Given the description of an element on the screen output the (x, y) to click on. 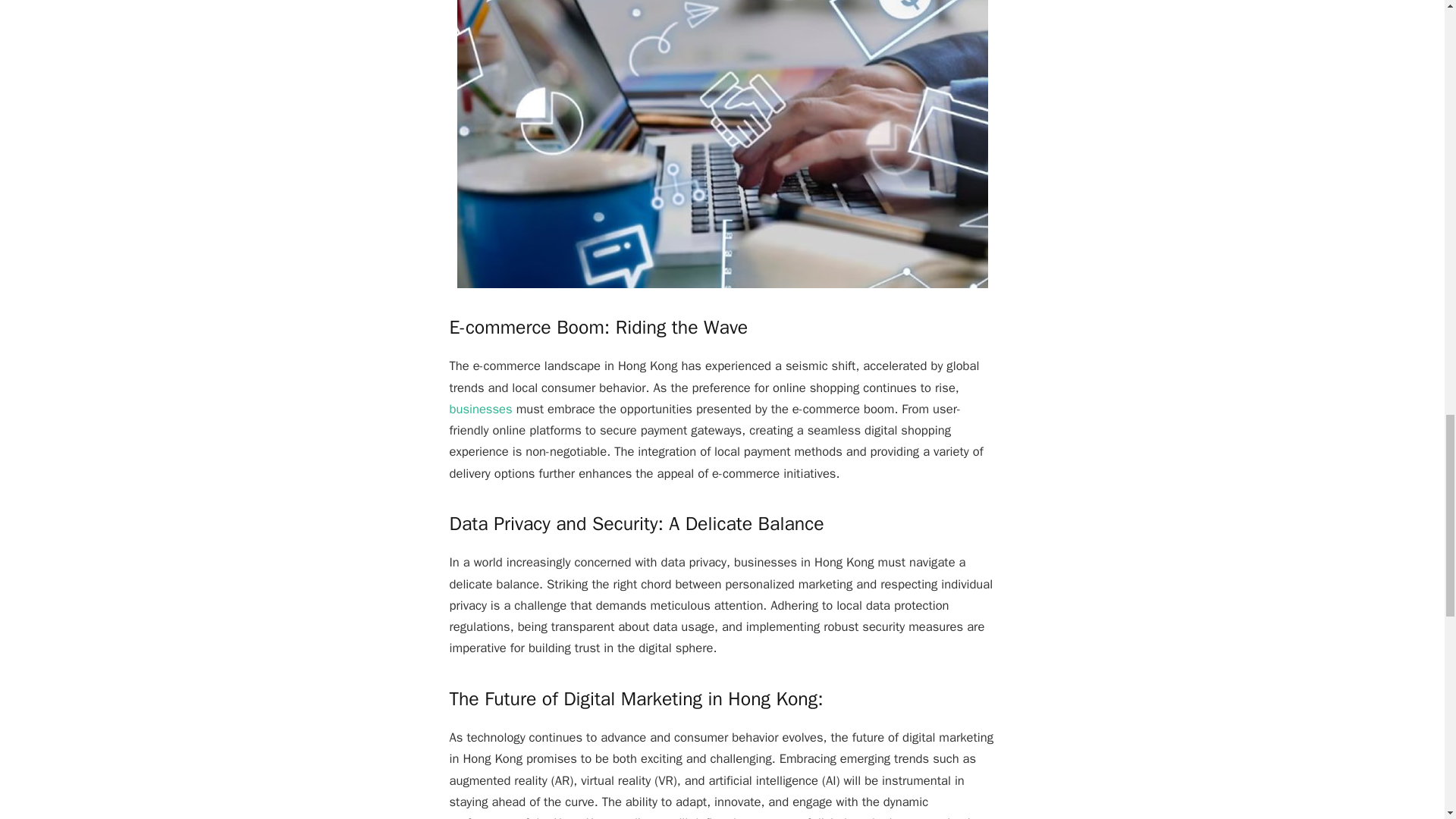
businesses (480, 408)
